Given the description of an element on the screen output the (x, y) to click on. 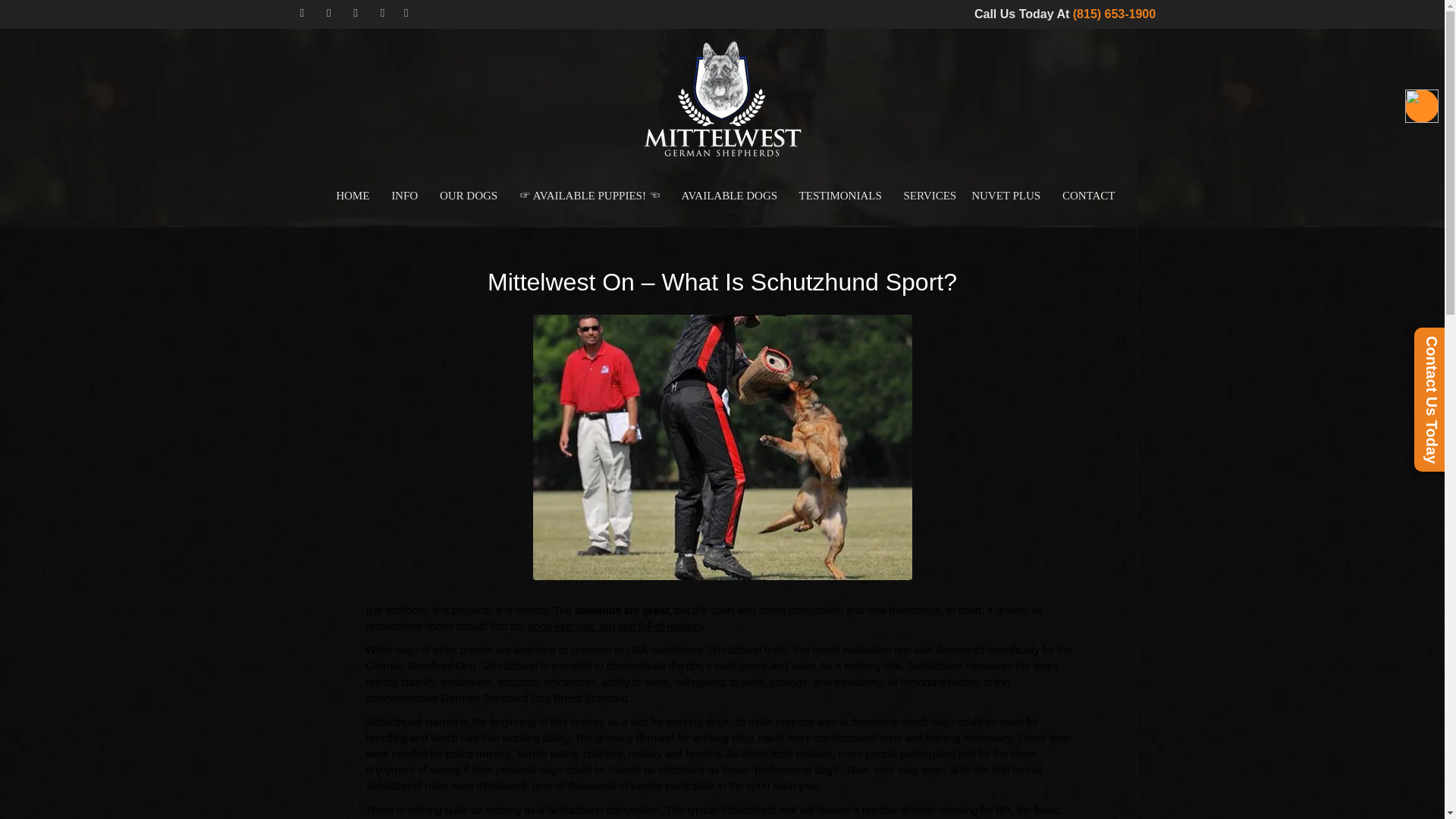
 HOME (349, 195)
 AVAILABLE DOGS (726, 194)
 TESTIMONIALS (836, 194)
 OUR DOGS (465, 194)
Accessibility Menu (1421, 105)
 INFO (401, 194)
